Given the description of an element on the screen output the (x, y) to click on. 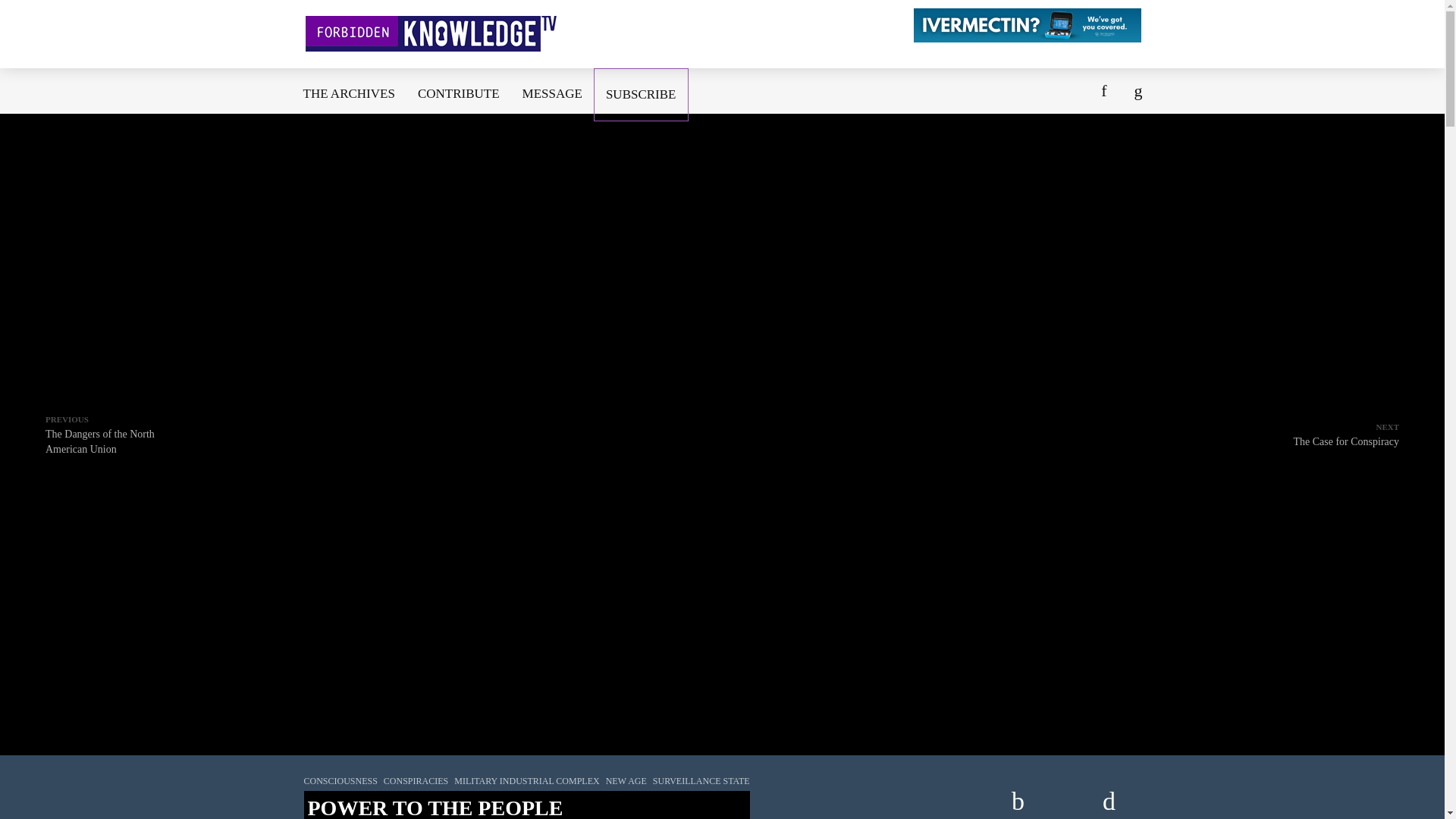
ADD COMMENT (1017, 796)
CINEMA MODE (1345, 434)
THE ARCHIVES (1108, 796)
MILITARY INDUSTRIAL COMPLEX (348, 93)
NEW AGE (526, 780)
MESSAGE (625, 780)
CONTRIBUTE (115, 434)
CONSPIRACIES (552, 93)
SURVEILLANCE STATE (458, 93)
SUBSCRIBE (416, 780)
CONSCIOUSNESS (700, 780)
